Given the description of an element on the screen output the (x, y) to click on. 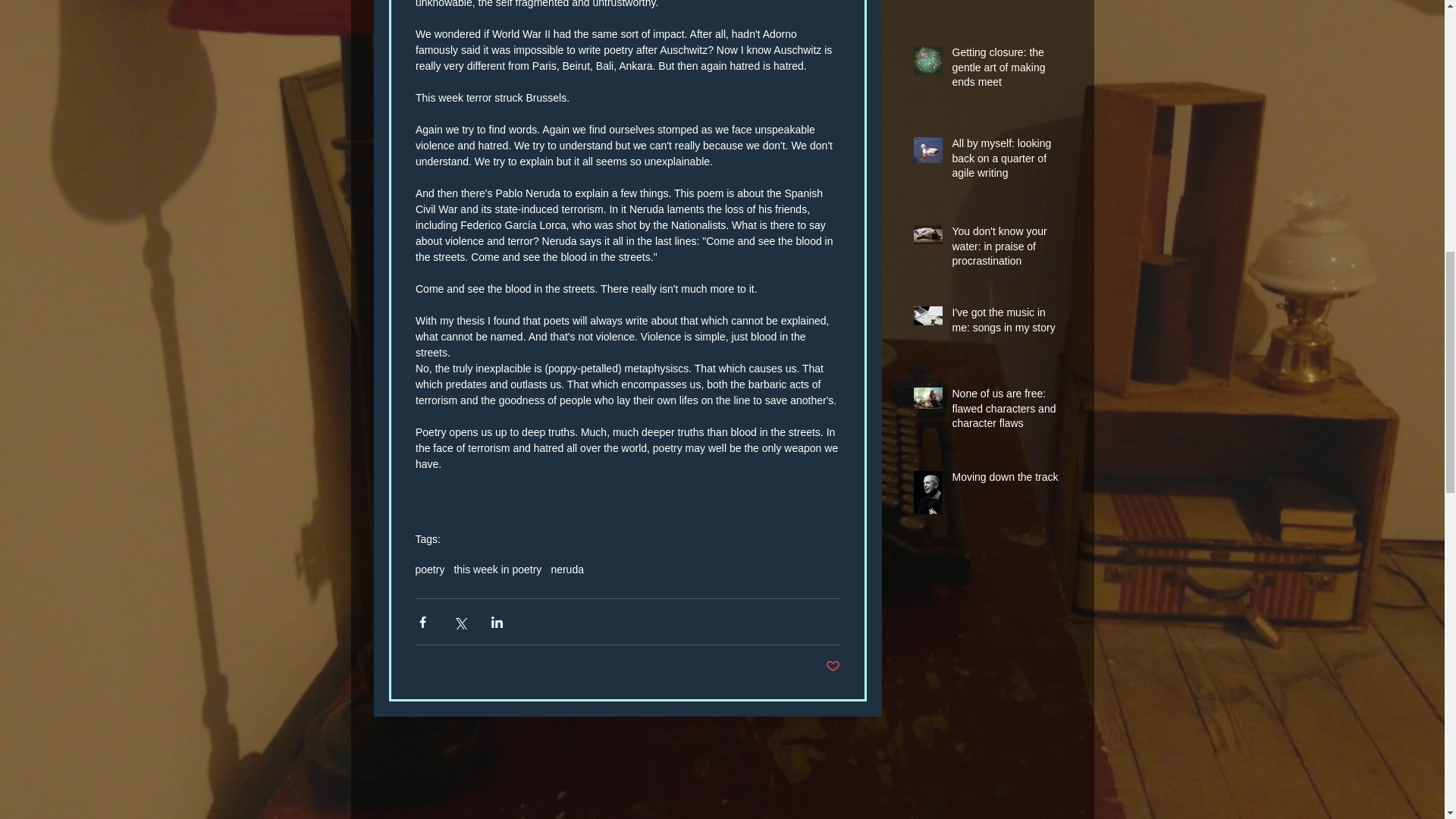
this week in poetry (496, 569)
None of us are free: flawed characters and character flaws (1006, 411)
I've got the music in me: songs in my story (1006, 323)
Moving down the track (1006, 480)
You don't know your water: in praise of procrastination (1006, 249)
Post is niet als leuk gemarkeerd (832, 666)
Getting closure: the gentle art of making ends meet (1006, 70)
All by myself: looking back on a quarter of agile writing (1006, 161)
poetry (429, 569)
All by myself: looking back on a quarter of agile writing (1006, 4)
